Given the description of an element on the screen output the (x, y) to click on. 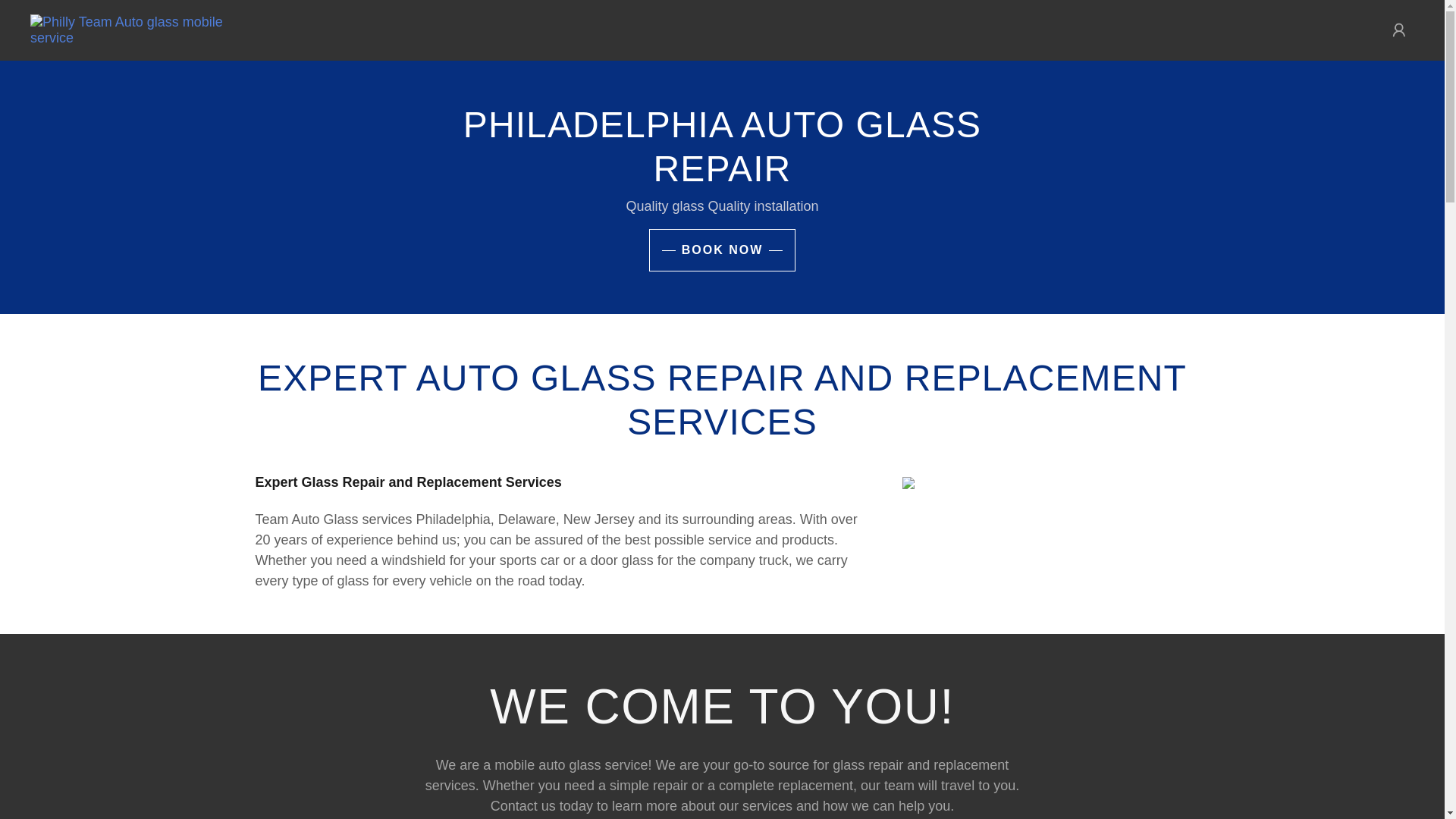
Philly Team Auto glass mobile service (131, 29)
